Given the description of an element on the screen output the (x, y) to click on. 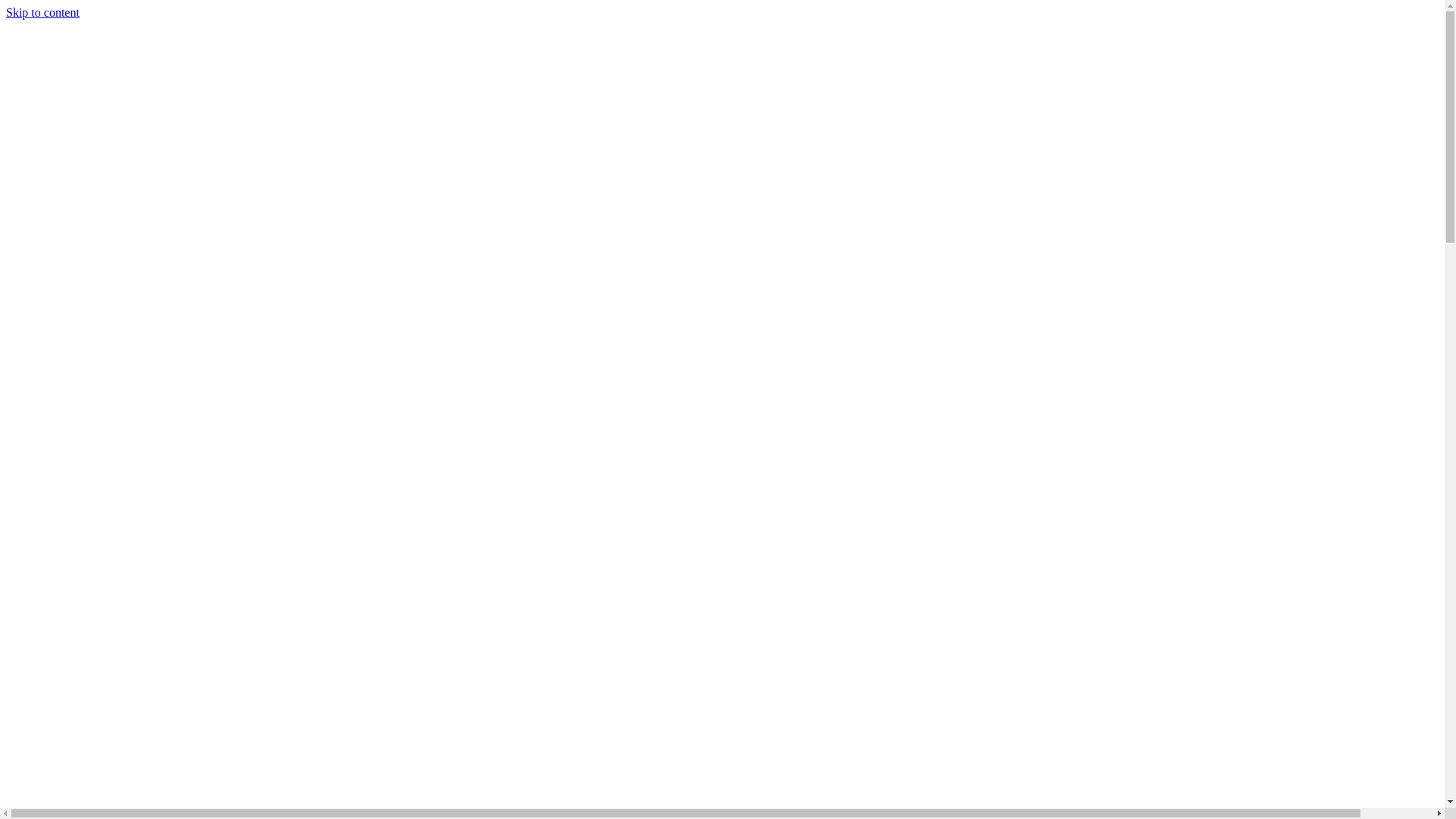
Skip to content Element type: text (42, 12)
